Given the description of an element on the screen output the (x, y) to click on. 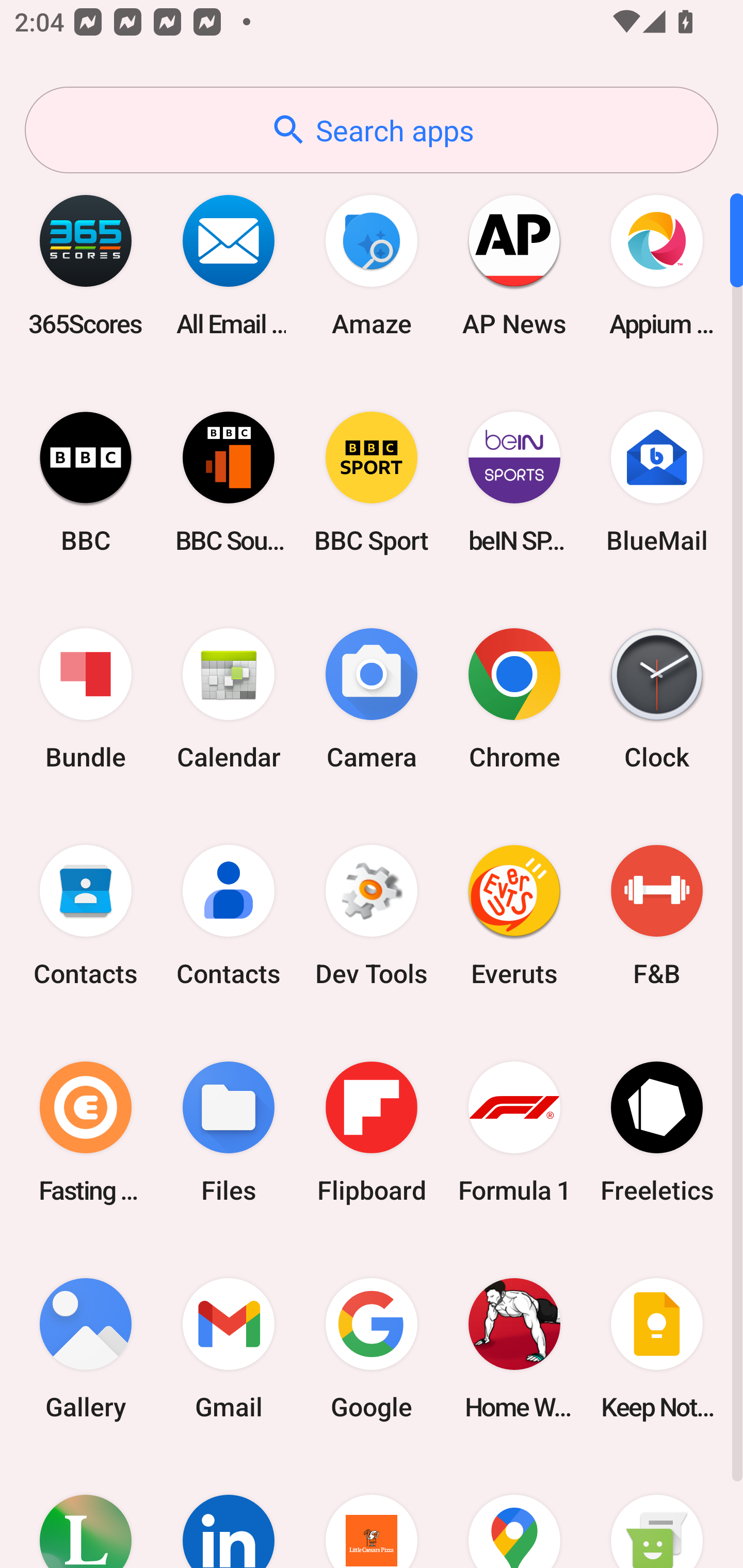
  Search apps (371, 130)
365Scores (85, 264)
All Email Connect (228, 264)
Amaze (371, 264)
AP News (514, 264)
Appium Settings (656, 264)
BBC (85, 482)
BBC Sounds (228, 482)
BBC Sport (371, 482)
beIN SPORTS (514, 482)
BlueMail (656, 482)
Bundle (85, 699)
Calendar (228, 699)
Camera (371, 699)
Chrome (514, 699)
Clock (656, 699)
Contacts (85, 915)
Contacts (228, 915)
Dev Tools (371, 915)
Everuts (514, 915)
F&B (656, 915)
Fasting Coach (85, 1131)
Files (228, 1131)
Flipboard (371, 1131)
Formula 1 (514, 1131)
Freeletics (656, 1131)
Gallery (85, 1348)
Gmail (228, 1348)
Google (371, 1348)
Home Workout (514, 1348)
Keep Notes (656, 1348)
